Given the description of an element on the screen output the (x, y) to click on. 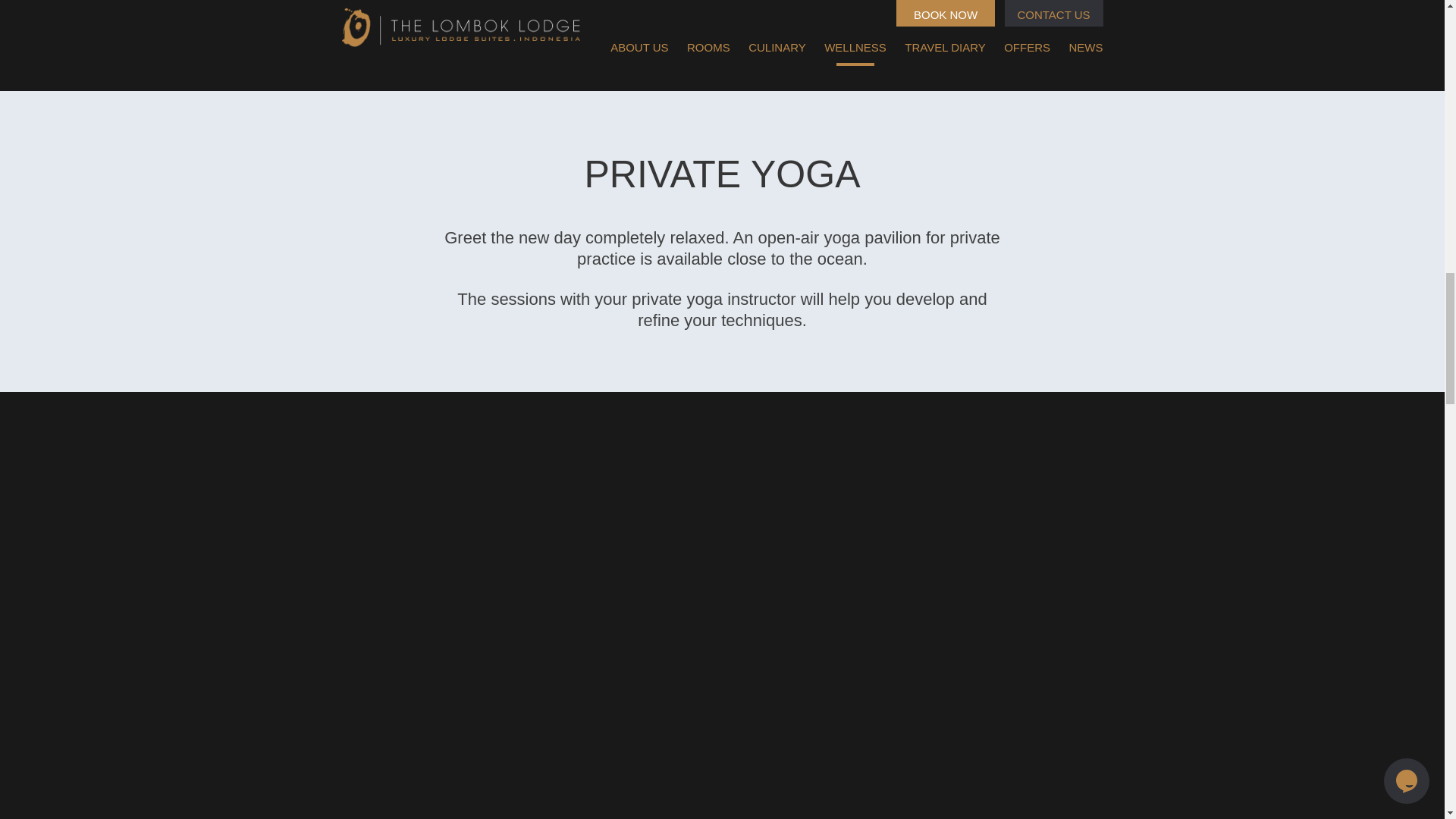
SPA MENU (721, 15)
